Given the description of an element on the screen output the (x, y) to click on. 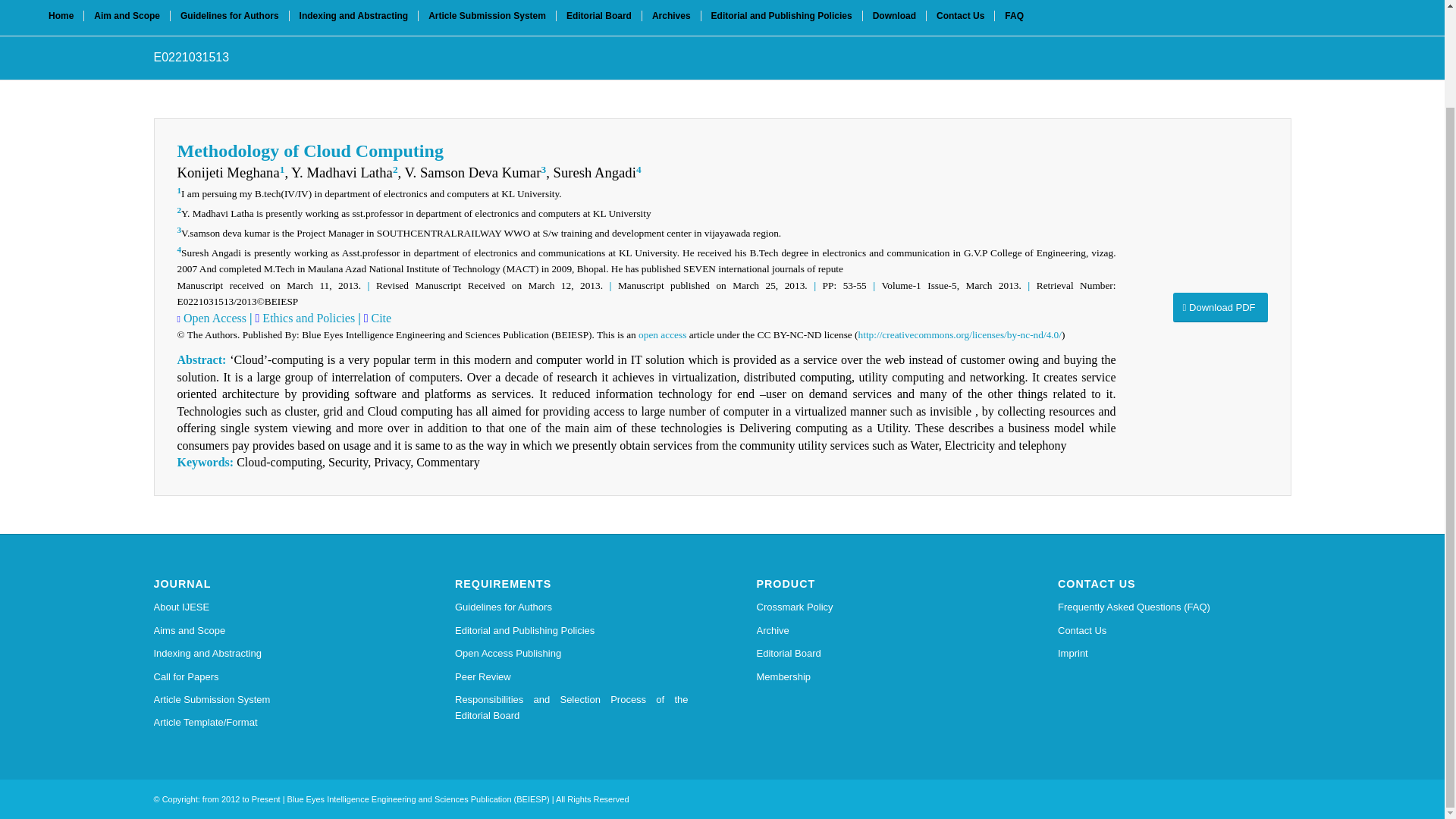
open access (662, 334)
Cite (379, 318)
Home (60, 17)
About IJESE (269, 607)
Editorial and Publishing Policies (780, 17)
Guidelines for Authors (571, 607)
Editorial and Publishing Policies (571, 630)
Archives (671, 17)
Indexing and Abstracting (269, 653)
Editorial Board (873, 653)
E0221031513 (190, 56)
Download (893, 17)
Open Access Publishing (571, 653)
Indexing and Abstracting (353, 17)
